Given the description of an element on the screen output the (x, y) to click on. 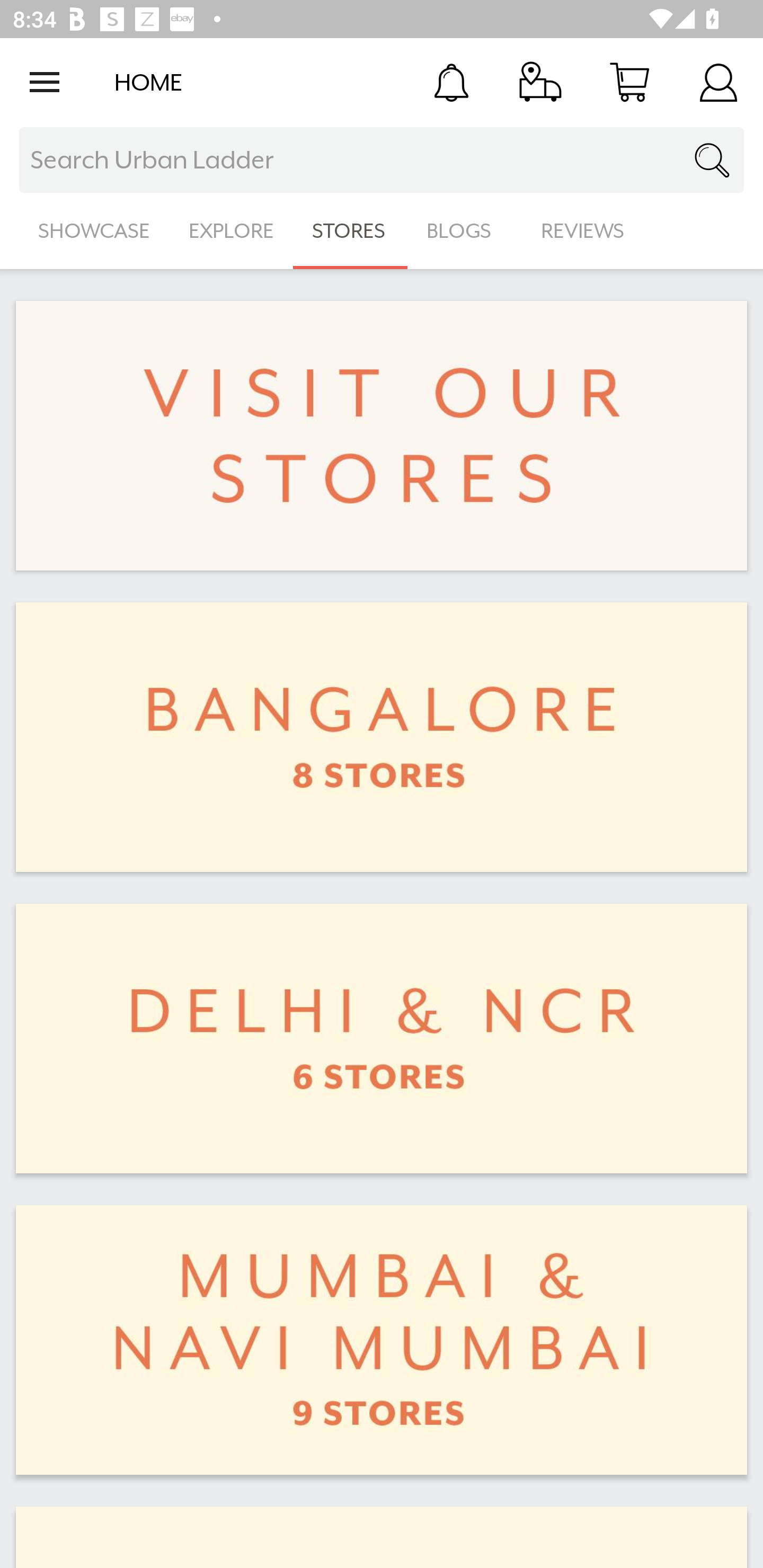
Open navigation drawer (44, 82)
Notification (450, 81)
Track Order (540, 81)
Cart (629, 81)
Account Details (718, 81)
Search Urban Ladder  (381, 159)
SHOWCASE (94, 230)
EXPLORE (230, 230)
STORES (349, 230)
BLOGS (464, 230)
REVIEWS (582, 230)
